Given the description of an element on the screen output the (x, y) to click on. 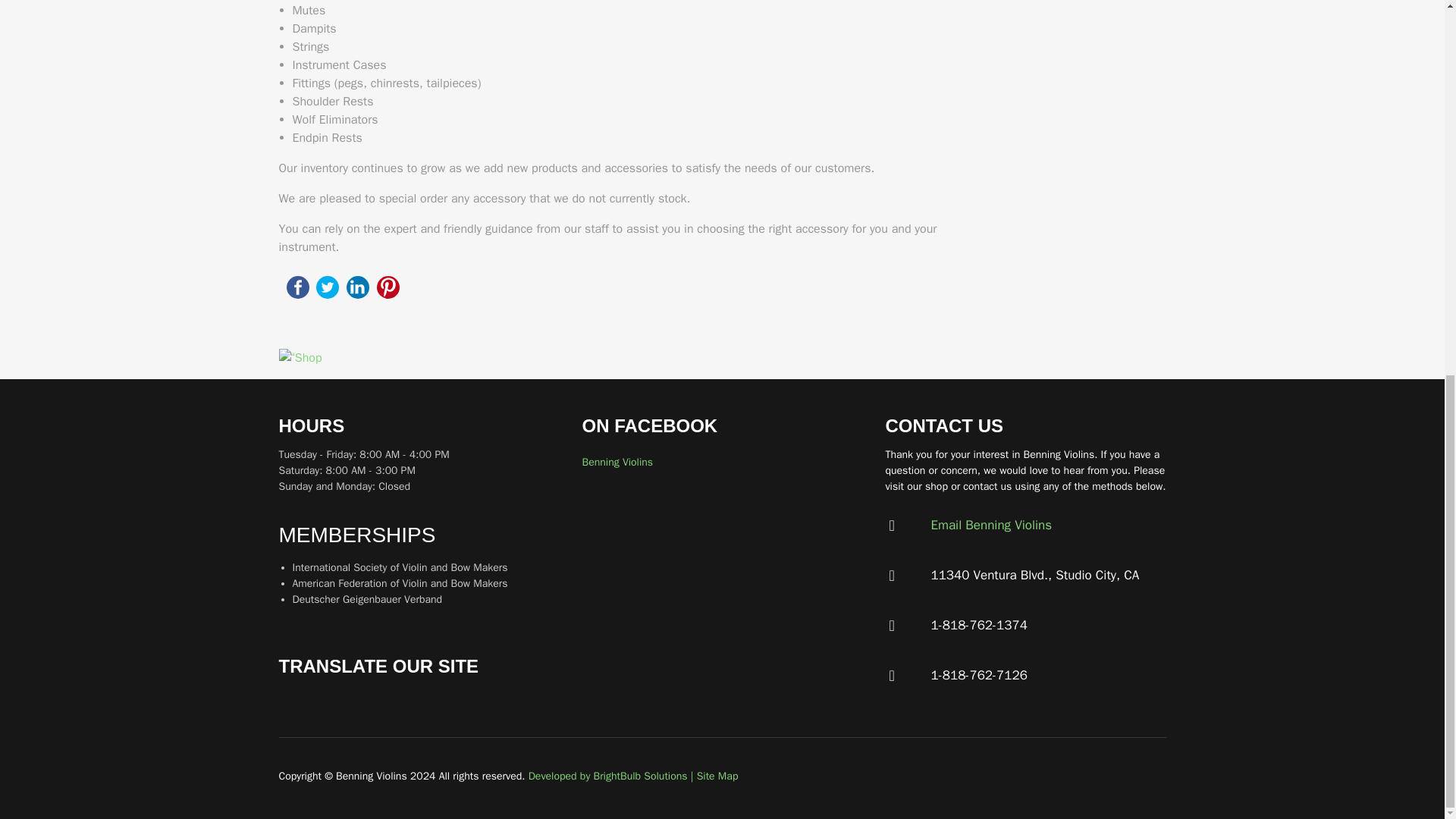
FaceBook (297, 287)
LinkedIn (357, 287)
Pinterest (387, 287)
BrightBulb Solutions (607, 775)
Twitter (327, 287)
